Given the description of an element on the screen output the (x, y) to click on. 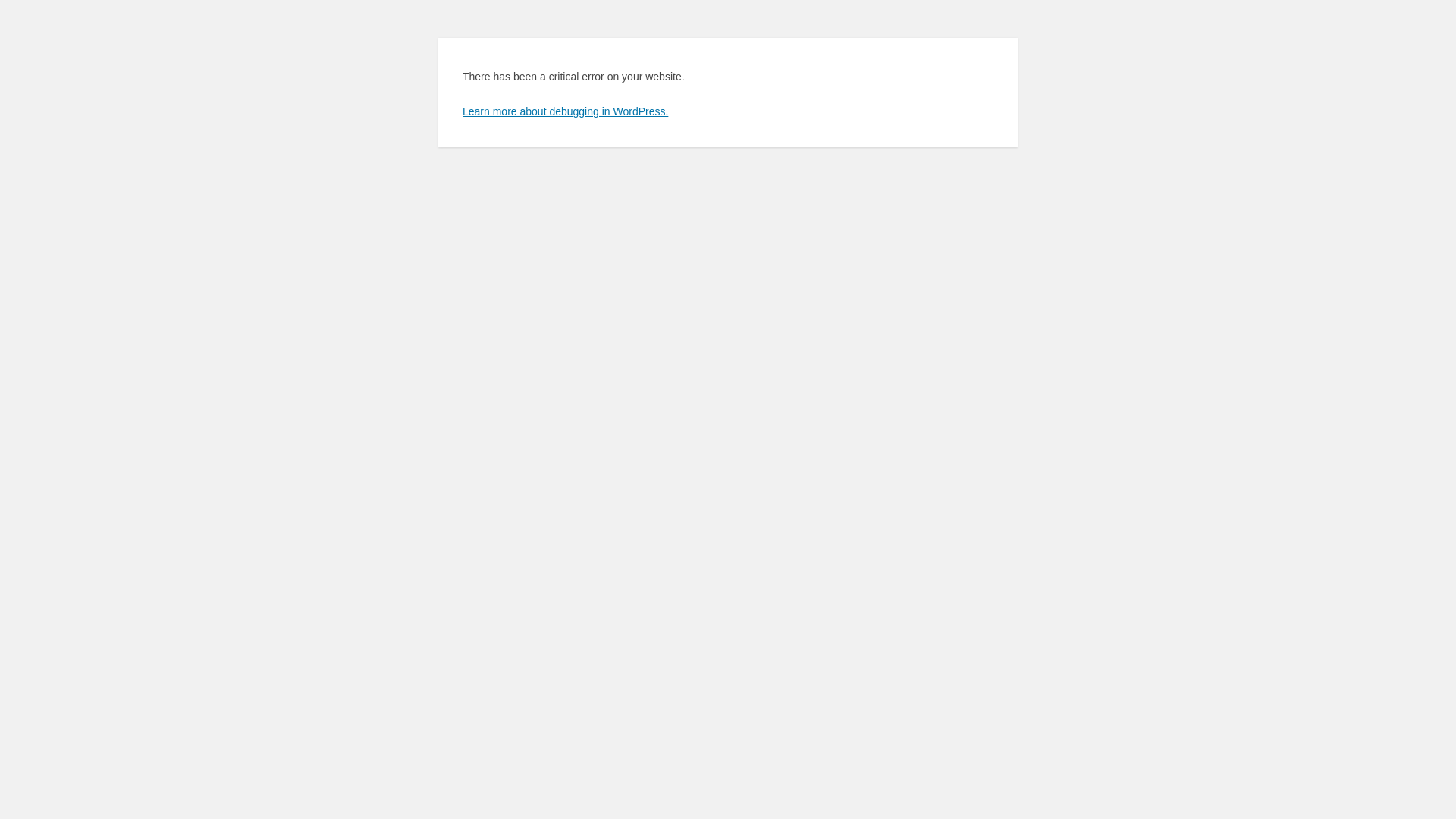
Learn more about debugging in WordPress. Element type: text (565, 111)
